Given the description of an element on the screen output the (x, y) to click on. 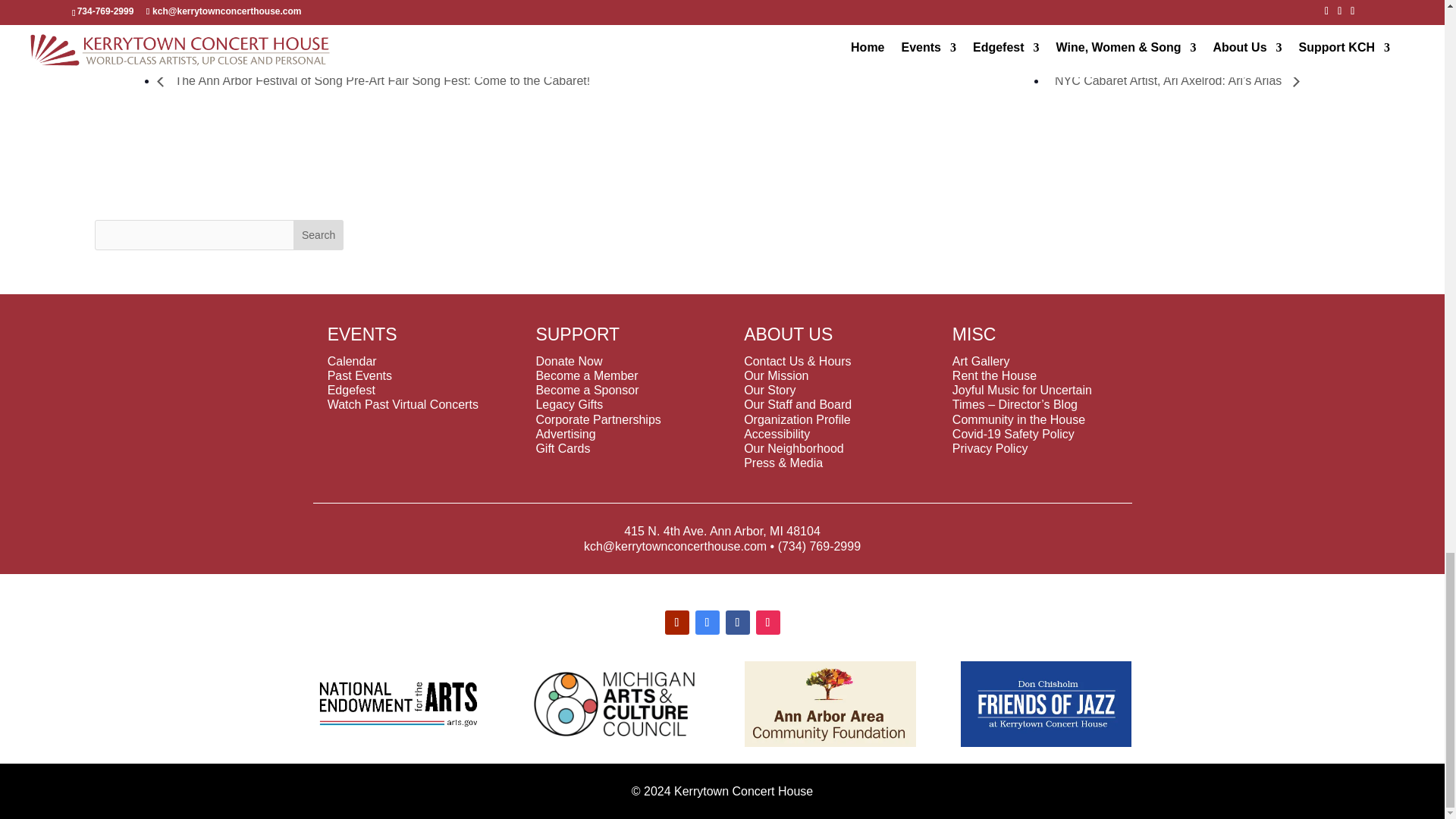
Calendar (352, 360)
Corporate Partnerships (598, 419)
Donate Now (568, 360)
Edgefest (351, 390)
Become a Member (586, 375)
Legacy Gifts (568, 404)
Become a Sponsor (587, 390)
Advertising (565, 433)
Watch Past Virtual Concerts (403, 404)
Past Events (359, 375)
